Given the description of an element on the screen output the (x, y) to click on. 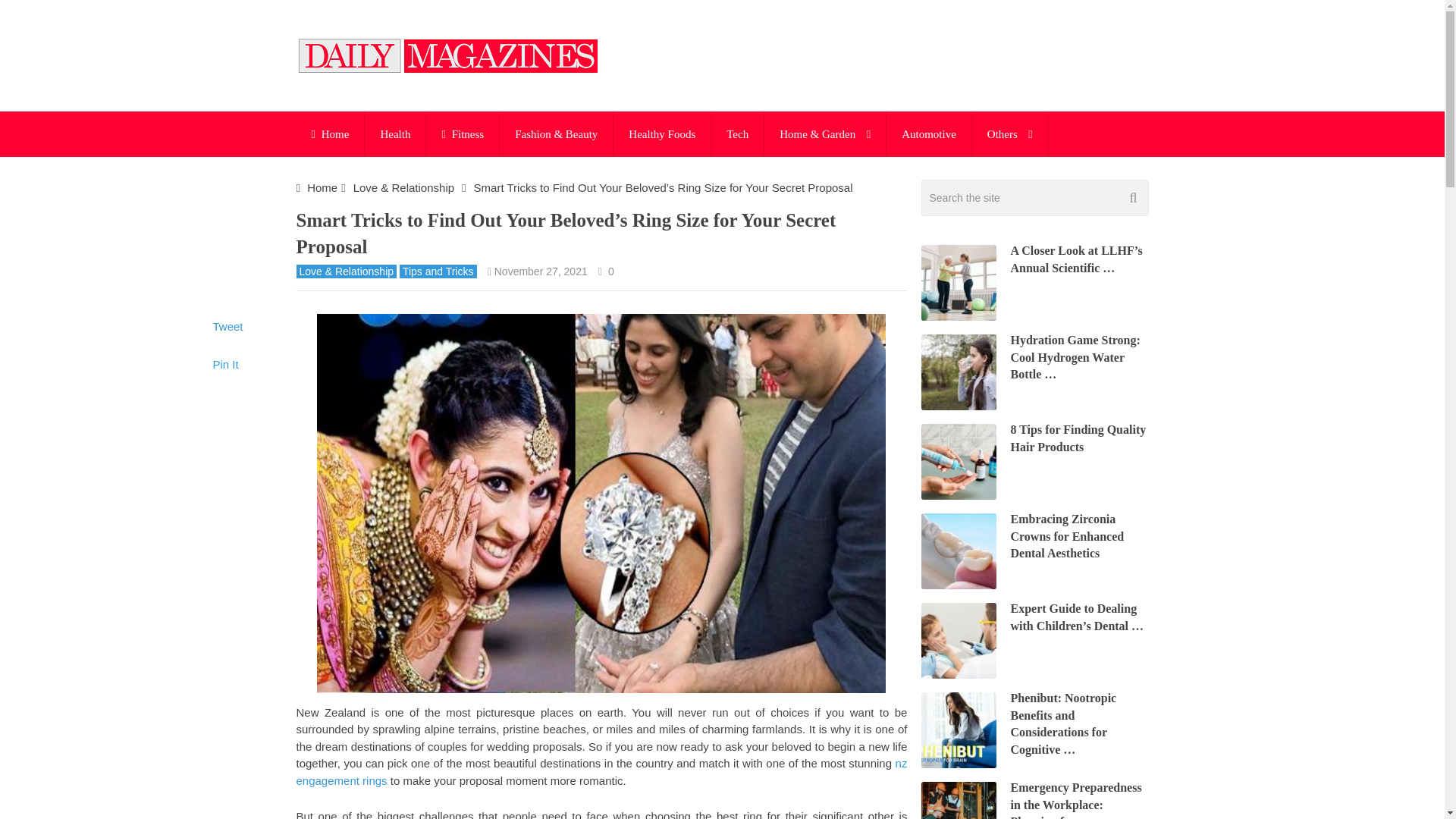
nz engagement rings (601, 771)
Fitness (462, 134)
Automotive (928, 134)
Home (322, 187)
Pin It (225, 364)
0 (611, 271)
Healthy Foods (661, 134)
Tips and Tricks (437, 271)
View all posts in Tips and Tricks (437, 271)
Health (395, 134)
